Given the description of an element on the screen output the (x, y) to click on. 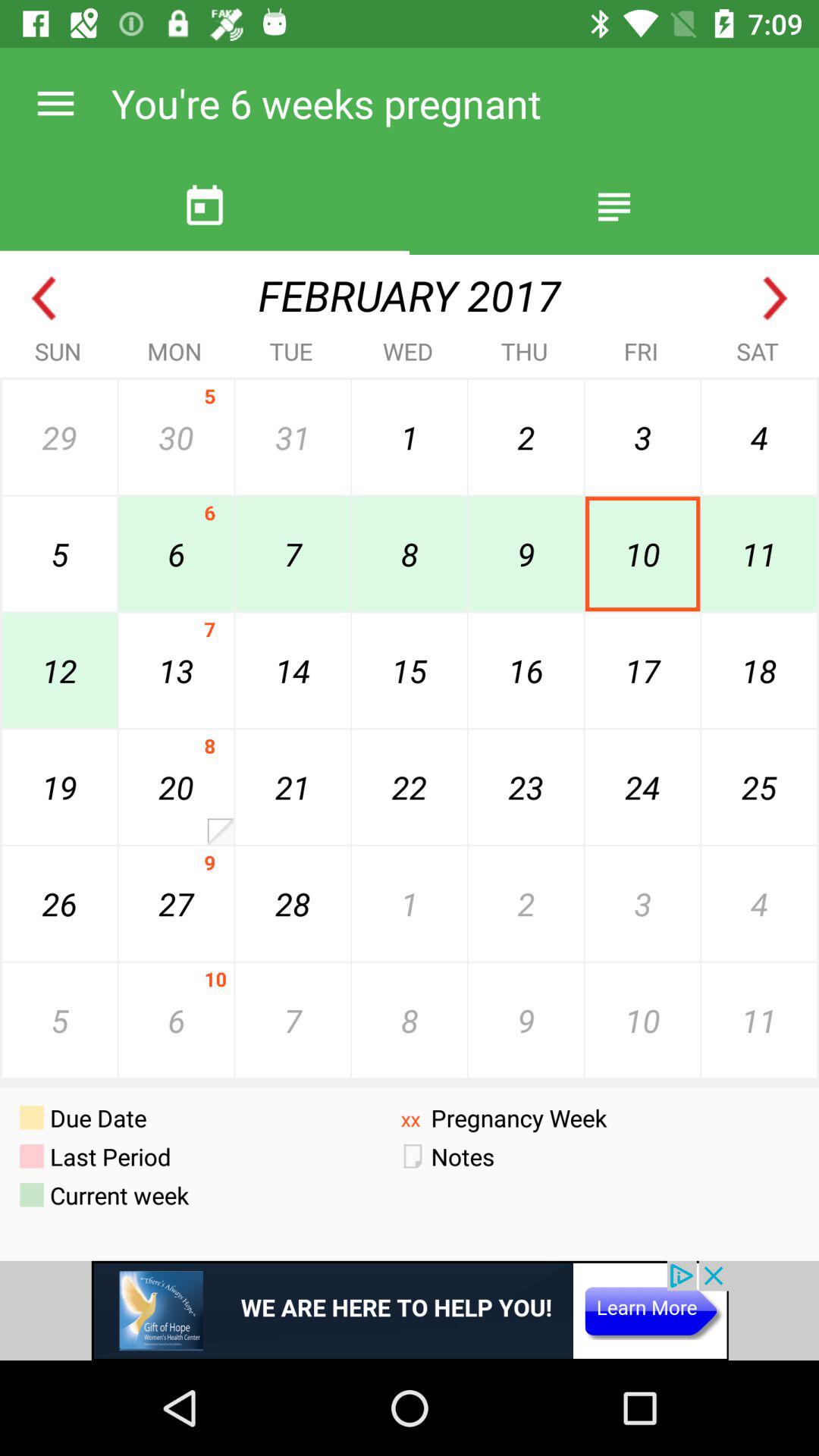
go to next month (775, 298)
